Given the description of an element on the screen output the (x, y) to click on. 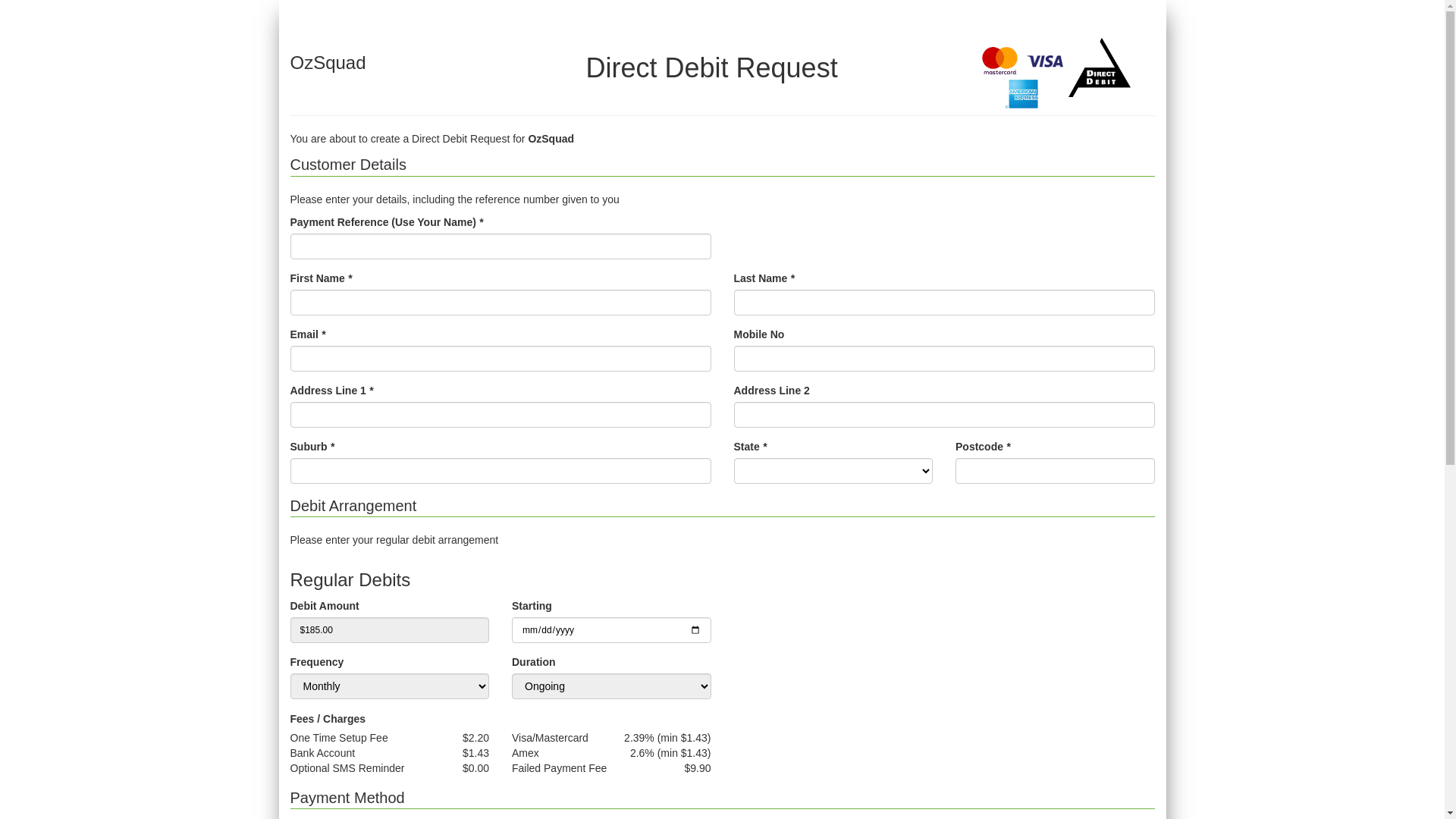
Mastercard Logo Element type: hover (999, 63)
Amex American Element type: hover (1022, 93)
Visa Logo Element type: hover (1044, 63)
Direct Debit Logo Element type: hover (1099, 67)
